Given the description of an element on the screen output the (x, y) to click on. 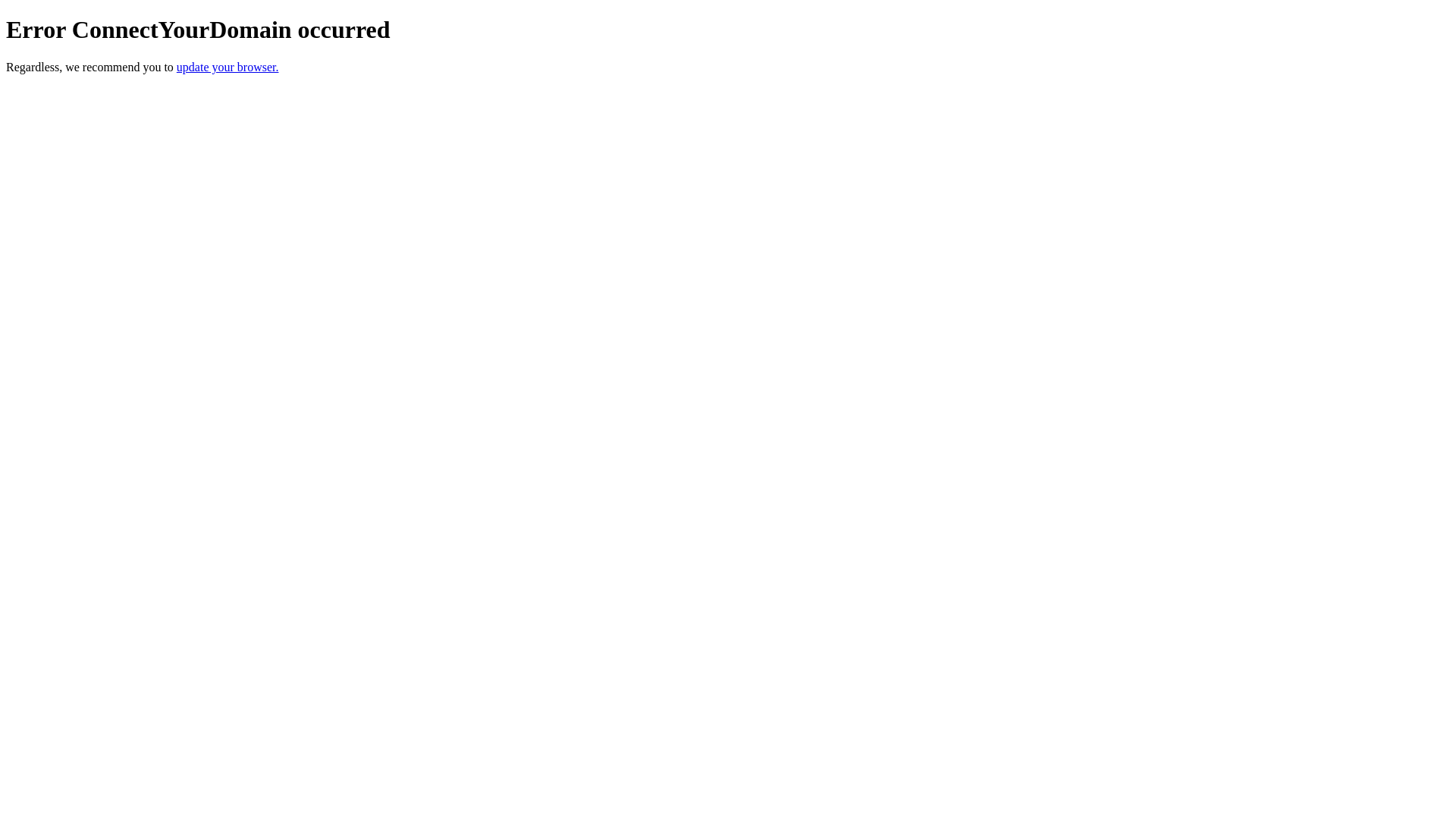
update your browser. Element type: text (227, 66)
